Given the description of an element on the screen output the (x, y) to click on. 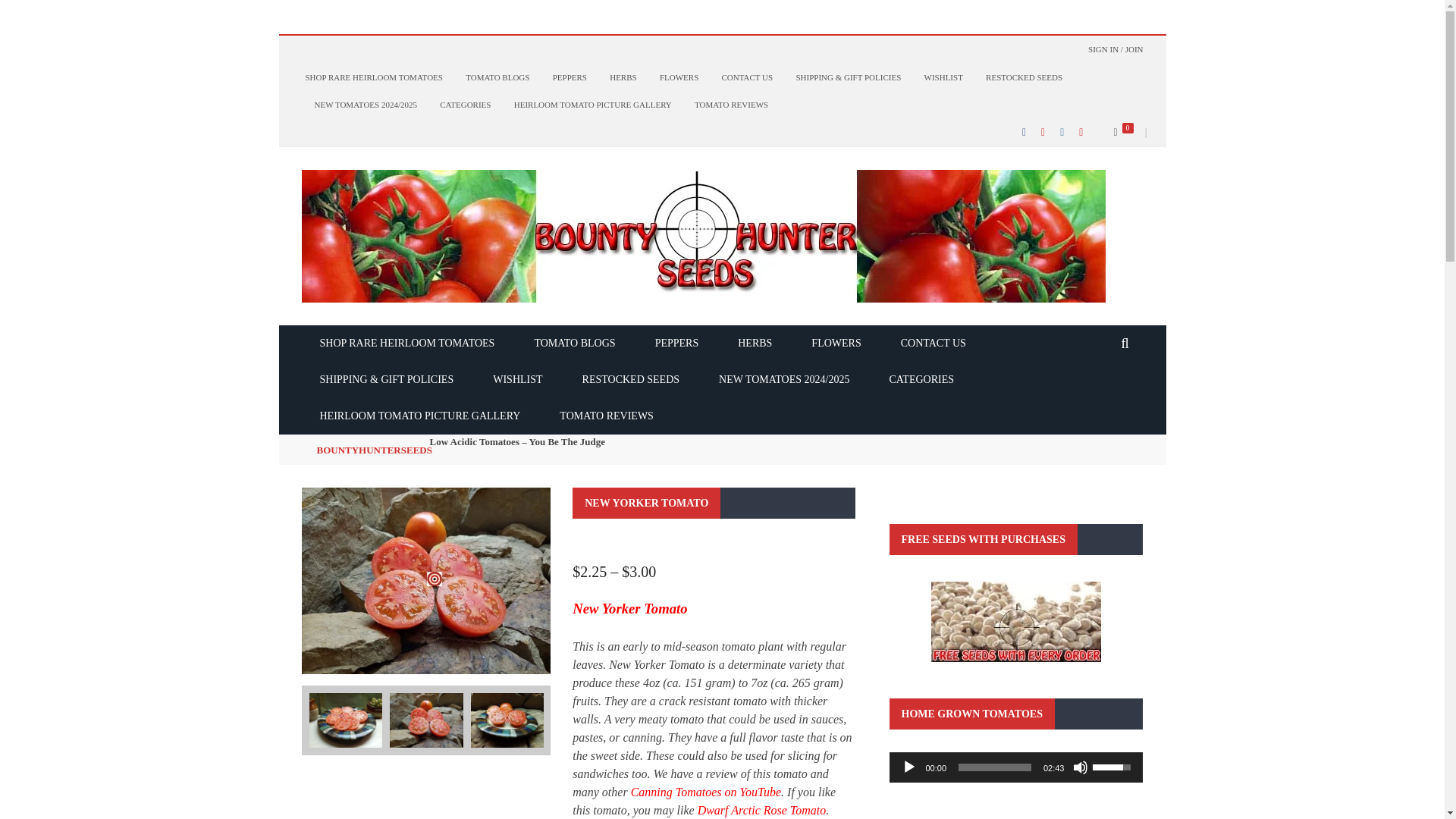
Mute (1080, 767)
New Yorker Tomato (426, 580)
New Yorker Tomato Seeds (344, 719)
Organic Tomato New Yorker Tomato (506, 719)
New Yorker Tomato (426, 719)
Play (908, 767)
